Given the description of an element on the screen output the (x, y) to click on. 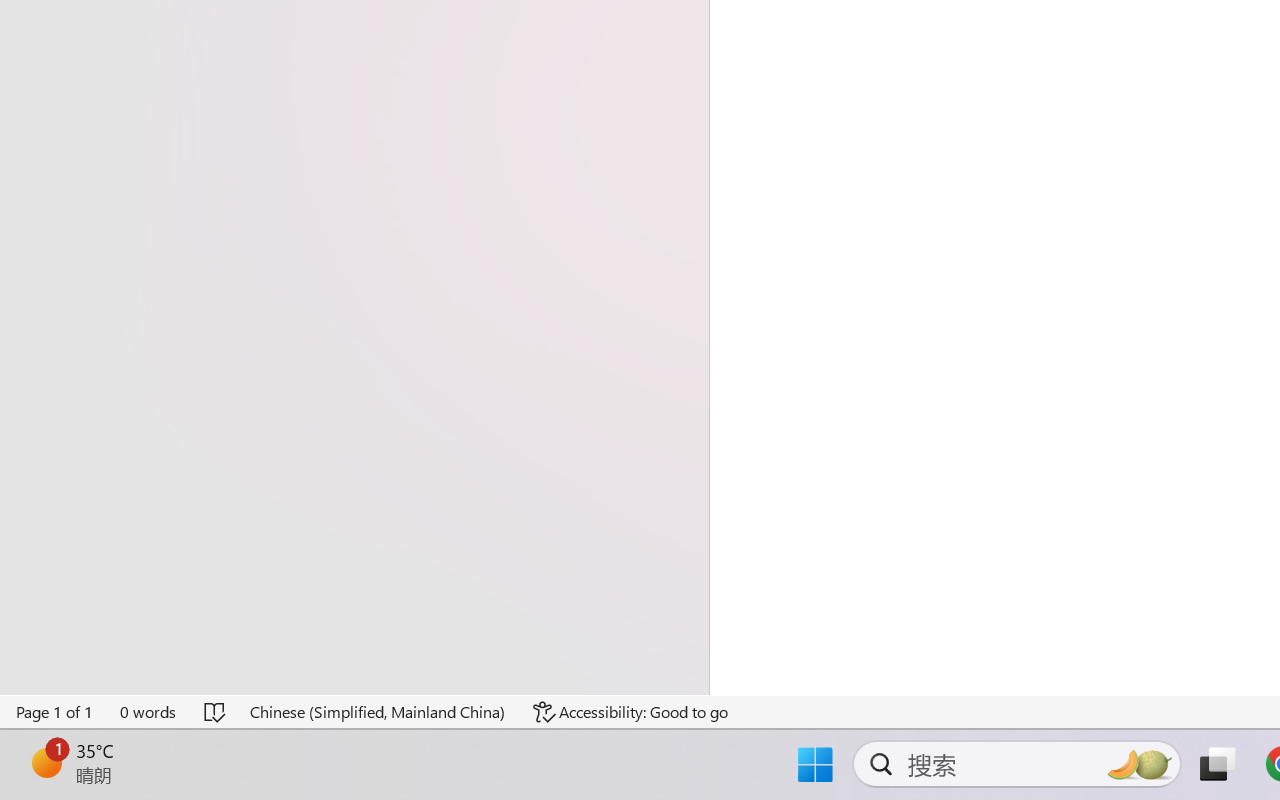
Language Chinese (Simplified, Mainland China) (378, 712)
